Given the description of an element on the screen output the (x, y) to click on. 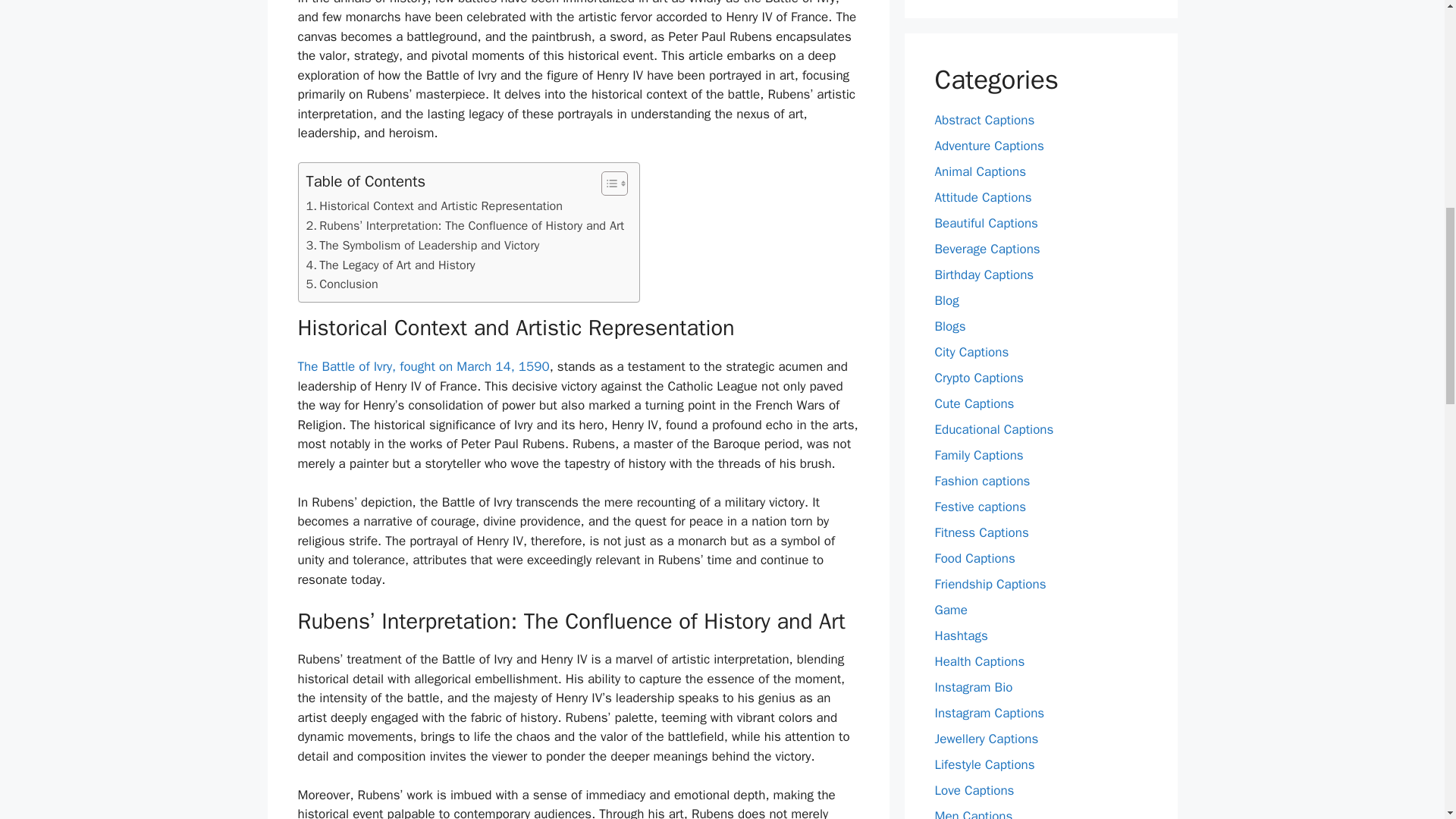
Beautiful Captions (985, 222)
The Battle of Ivry, fought on March 14, 1590 (422, 366)
Beverage Captions (986, 248)
The Symbolism of Leadership and Victory (422, 245)
Adventure Captions (988, 145)
Conclusion (341, 284)
The Legacy of Art and History (390, 265)
Attitude Captions (982, 197)
Conclusion (341, 284)
Historical Context and Artistic Representation (433, 206)
Animal Captions (980, 171)
Blog (946, 300)
Historical Context and Artistic Representation (433, 206)
Scroll back to top (1406, 720)
The Legacy of Art and History (390, 265)
